Given the description of an element on the screen output the (x, y) to click on. 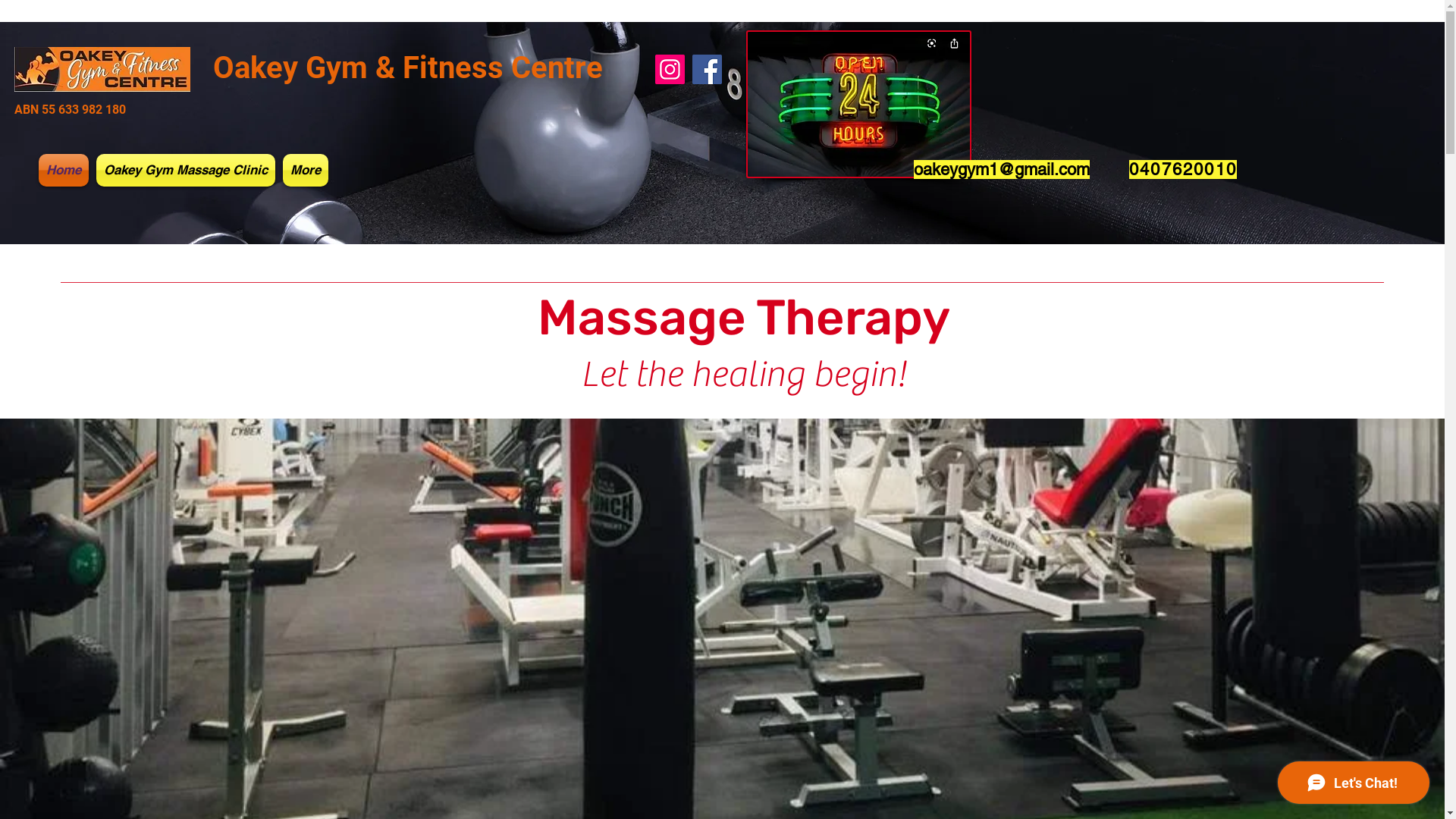
Home Element type: text (65, 169)
Oakey Gym Massage Clinic Element type: text (185, 169)
oakeygym1@gmail.com Element type: text (1001, 169)
Oakey Gym & Fitness Centre Element type: text (407, 67)
